Given the description of an element on the screen output the (x, y) to click on. 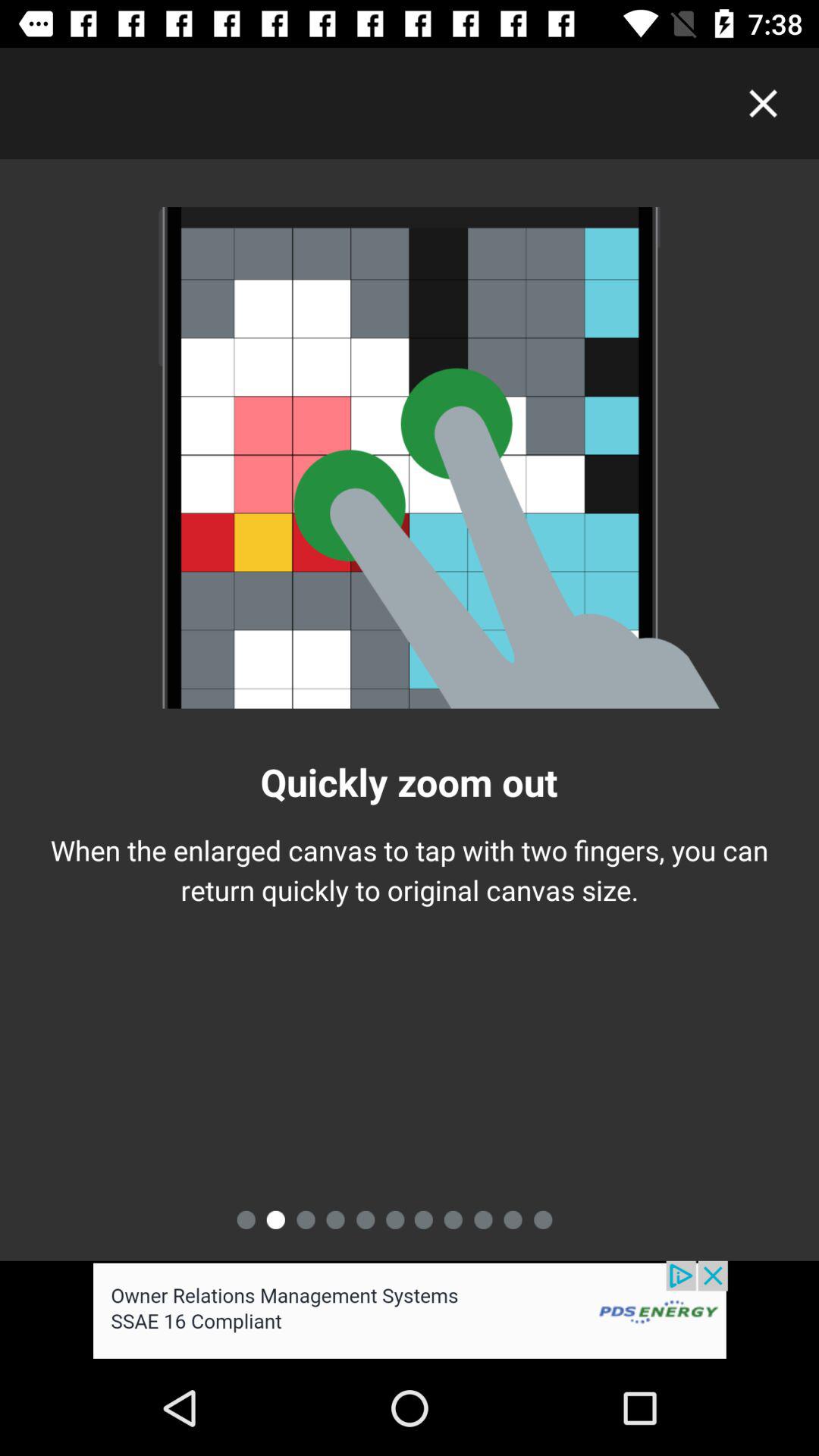
advertisement (409, 1310)
